Given the description of an element on the screen output the (x, y) to click on. 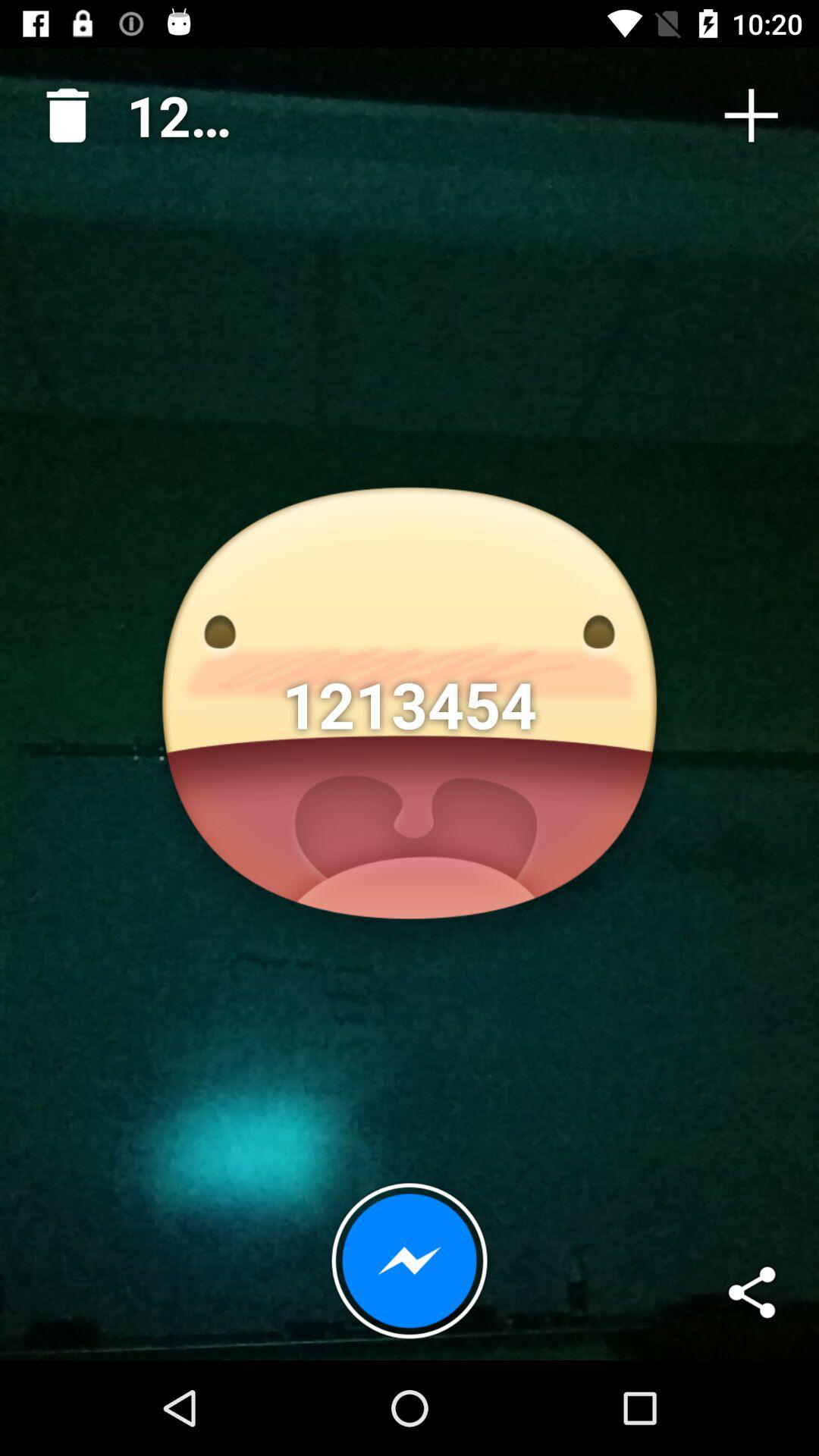
press the icon at the bottom right corner (751, 1292)
